Given the description of an element on the screen output the (x, y) to click on. 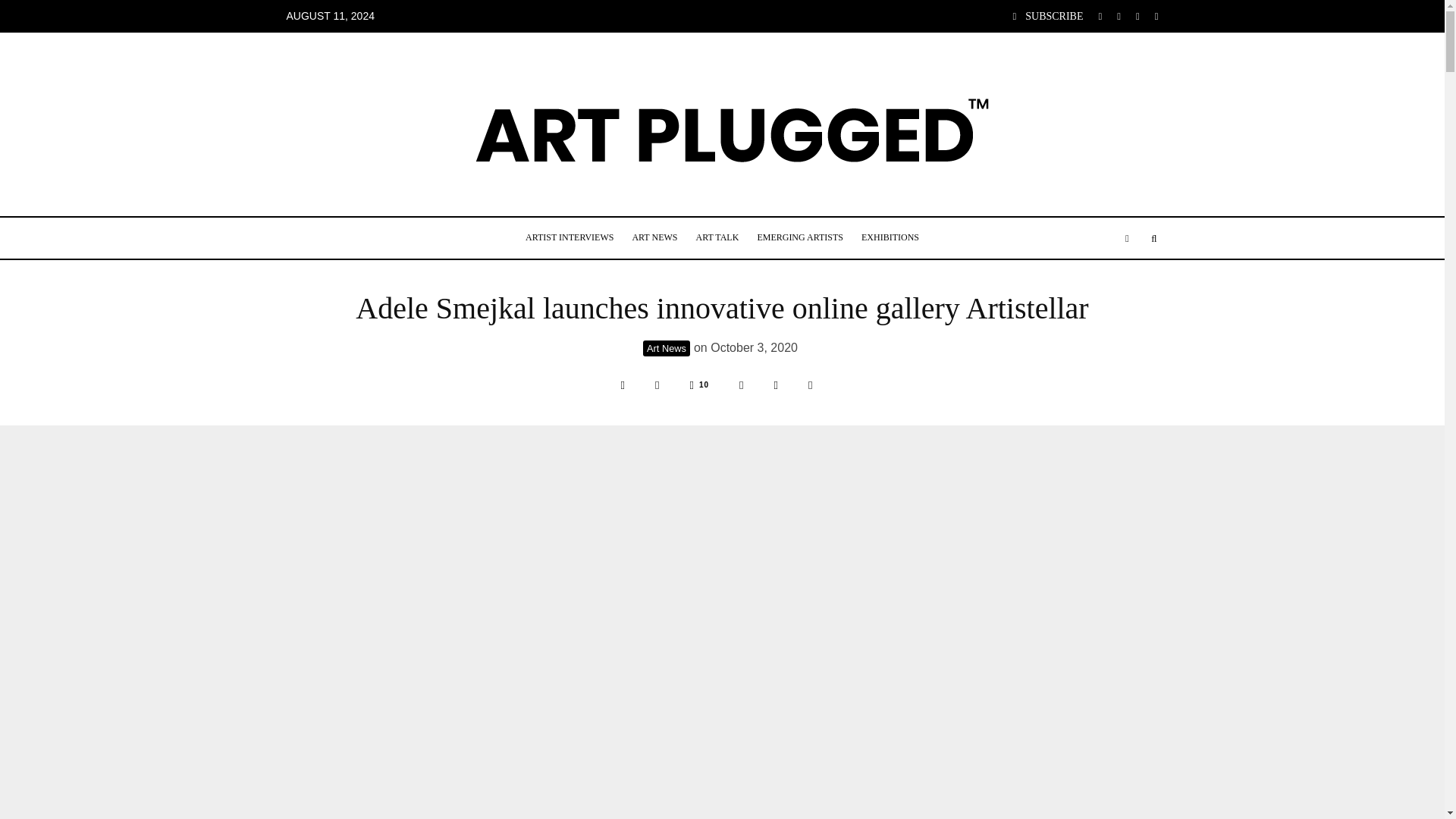
ART NEWS (654, 237)
ARTIST INTERVIEWS (569, 237)
ART TALK (716, 237)
EMERGING ARTISTS (799, 237)
SUBSCRIBE (1048, 16)
